Given the description of an element on the screen output the (x, y) to click on. 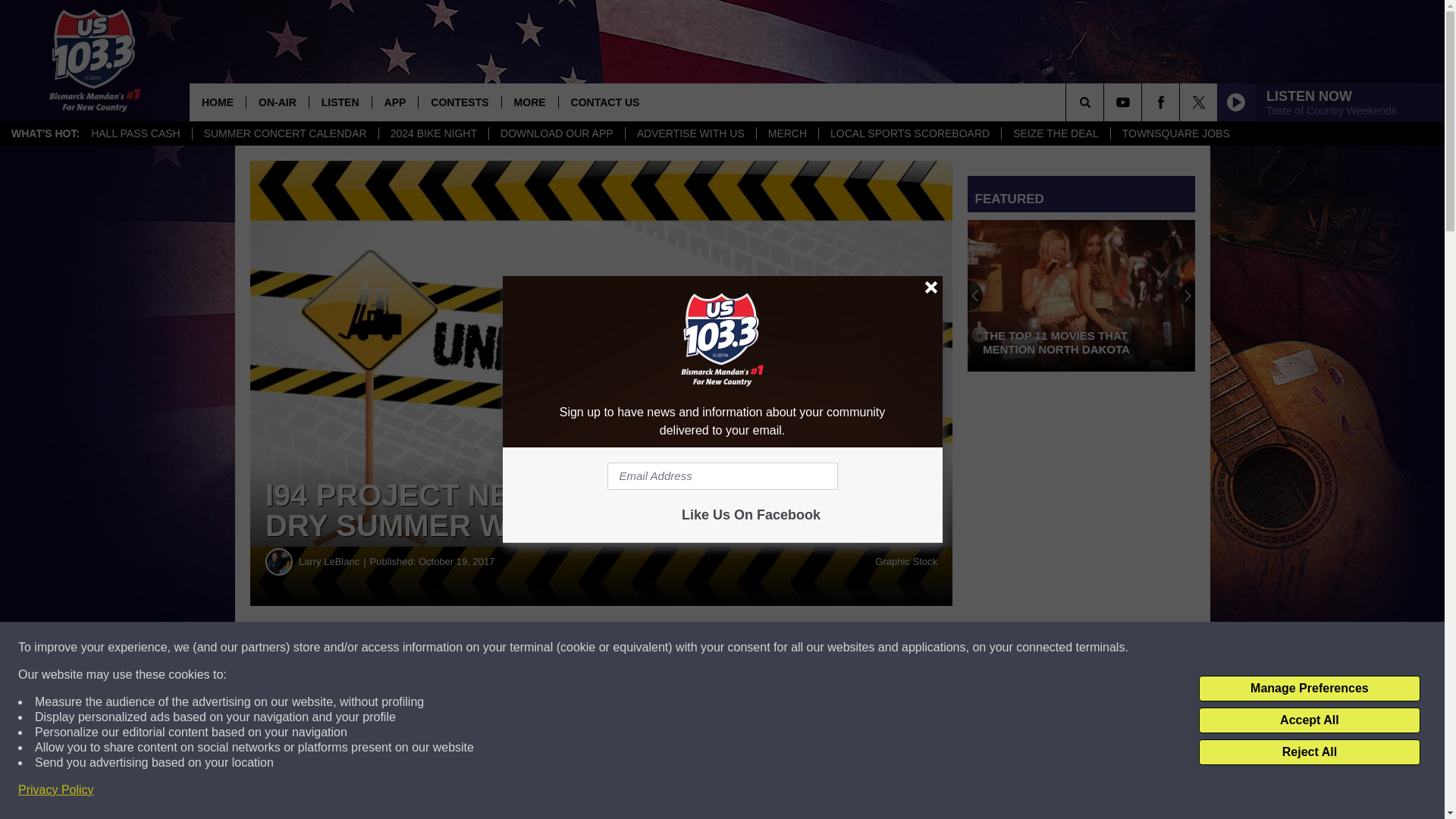
SUMMER CONCERT CALENDAR (285, 133)
Privacy Policy (55, 789)
HALL PASS CASH (136, 133)
LOCAL SPORTS SCOREBOARD (909, 133)
HOME (217, 102)
DOWNLOAD OUR APP (555, 133)
SEARCH (1106, 102)
APP (395, 102)
Accept All (1309, 720)
Share on Facebook (460, 647)
MERCH (786, 133)
Share on Twitter (741, 647)
Email Address (722, 475)
SEARCH (1106, 102)
ON-AIR (277, 102)
